Given the description of an element on the screen output the (x, y) to click on. 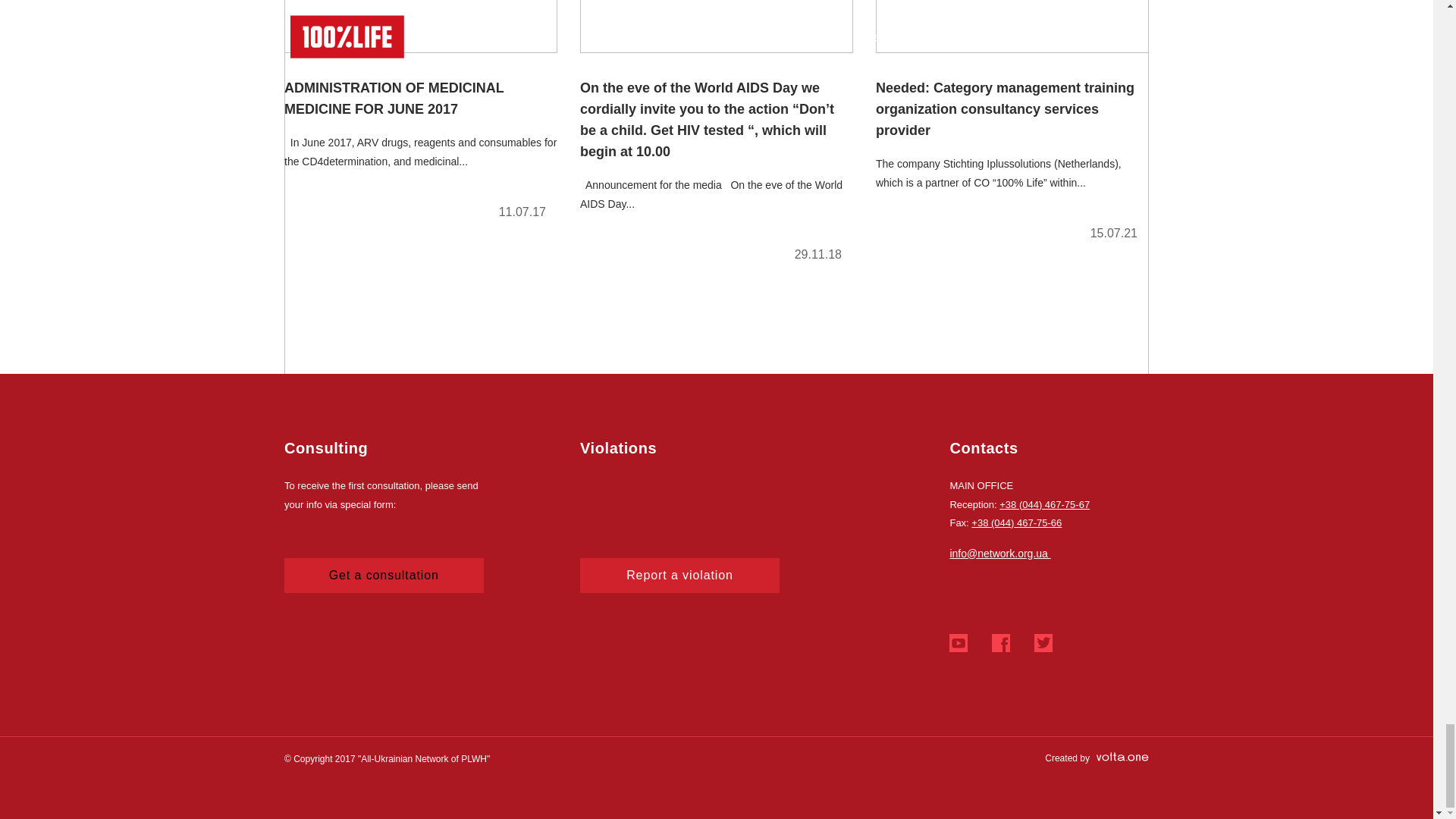
Get a consultation (383, 574)
Report a violation (678, 574)
ADMINISTRATION OF MEDICINAL MEDICINE FOR JUNE 2017 (420, 116)
Report a violation (678, 574)
Get a consultation (383, 574)
Created by (1096, 757)
